Given the description of an element on the screen output the (x, y) to click on. 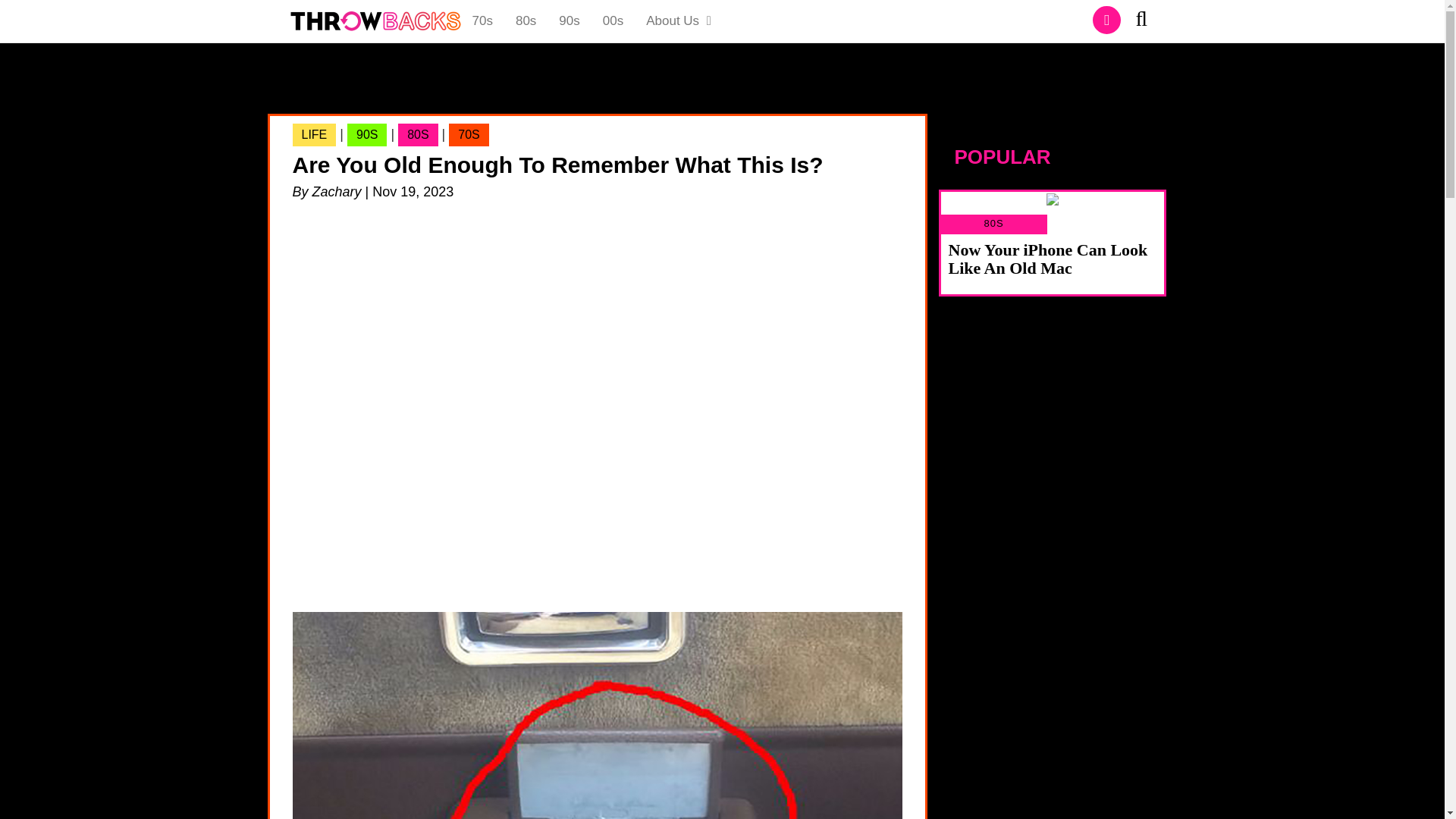
90S (367, 134)
Zachary's Profile (337, 191)
80S (417, 134)
Zachary (337, 191)
About Us (679, 21)
facebook (1107, 19)
Search (1147, 21)
70s (482, 21)
LIFE (1052, 210)
